Given the description of an element on the screen output the (x, y) to click on. 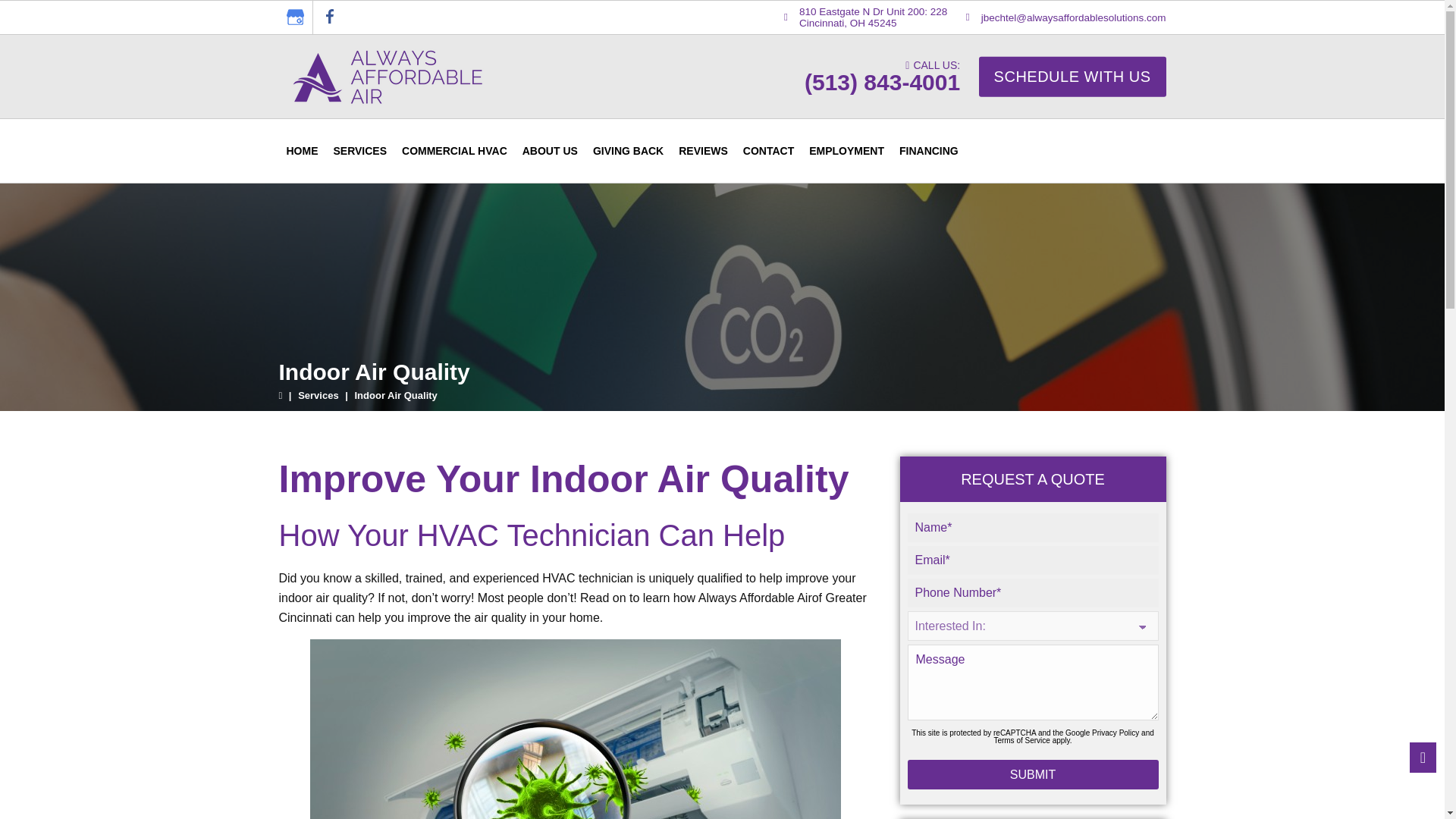
Submit (1032, 774)
Always Affordable Air (387, 76)
HOME (302, 150)
SCHEDULE WITH US (1072, 76)
Facebook (329, 17)
Google My Business (294, 17)
SERVICES (360, 150)
Home Air Quality (575, 729)
